Given the description of an element on the screen output the (x, y) to click on. 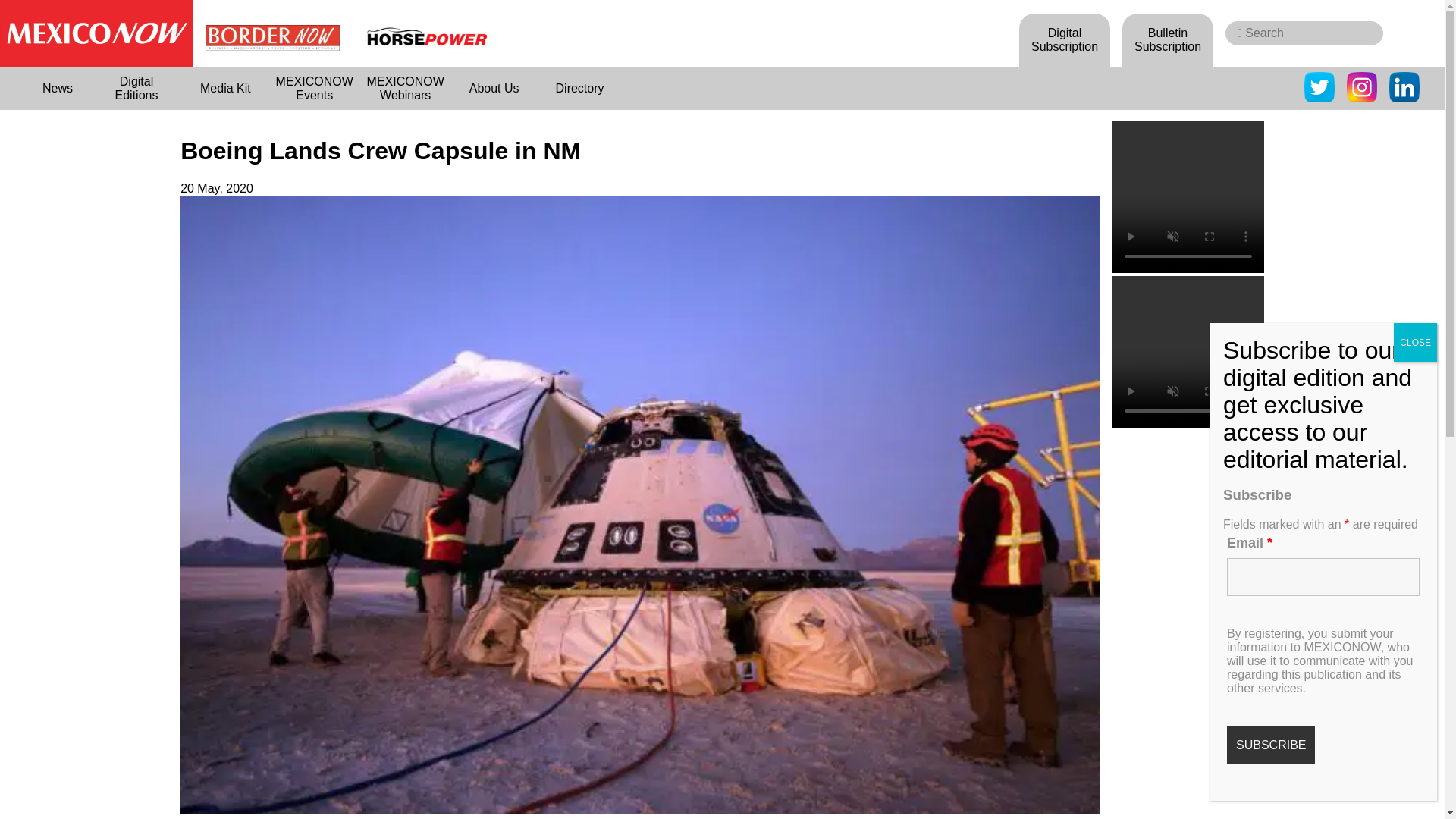
Digital Editions (136, 87)
About Us (494, 87)
SUBSCRIBE (1270, 745)
Digital Subscription (1064, 39)
Bulletin Subscription (1167, 39)
MEXICONOW Webinars (405, 87)
News (57, 87)
Media Kit (225, 87)
Directory (580, 87)
MEXICONOW Events (314, 87)
